Given the description of an element on the screen output the (x, y) to click on. 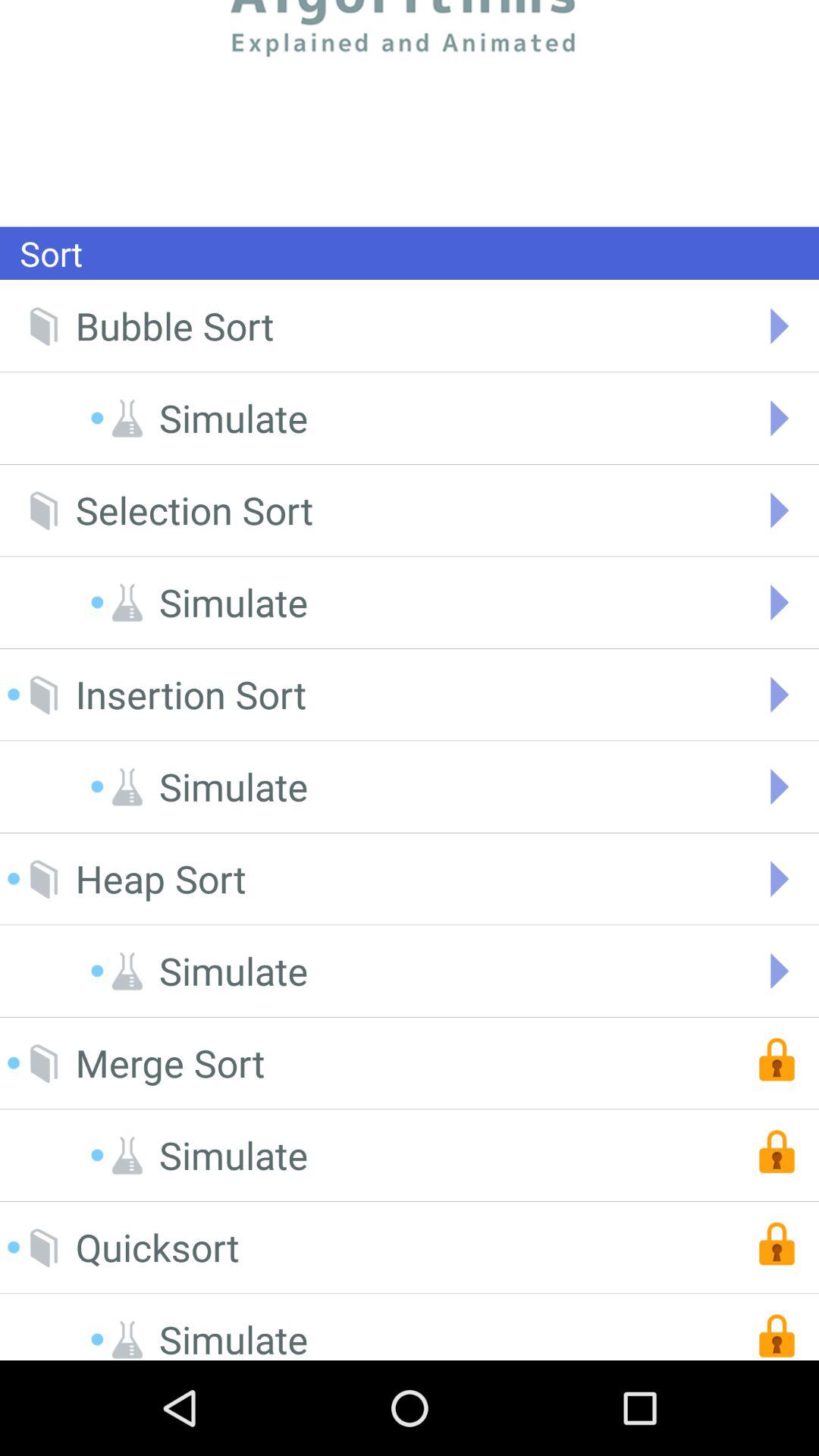
jump to the merge sort icon (170, 1063)
